Given the description of an element on the screen output the (x, y) to click on. 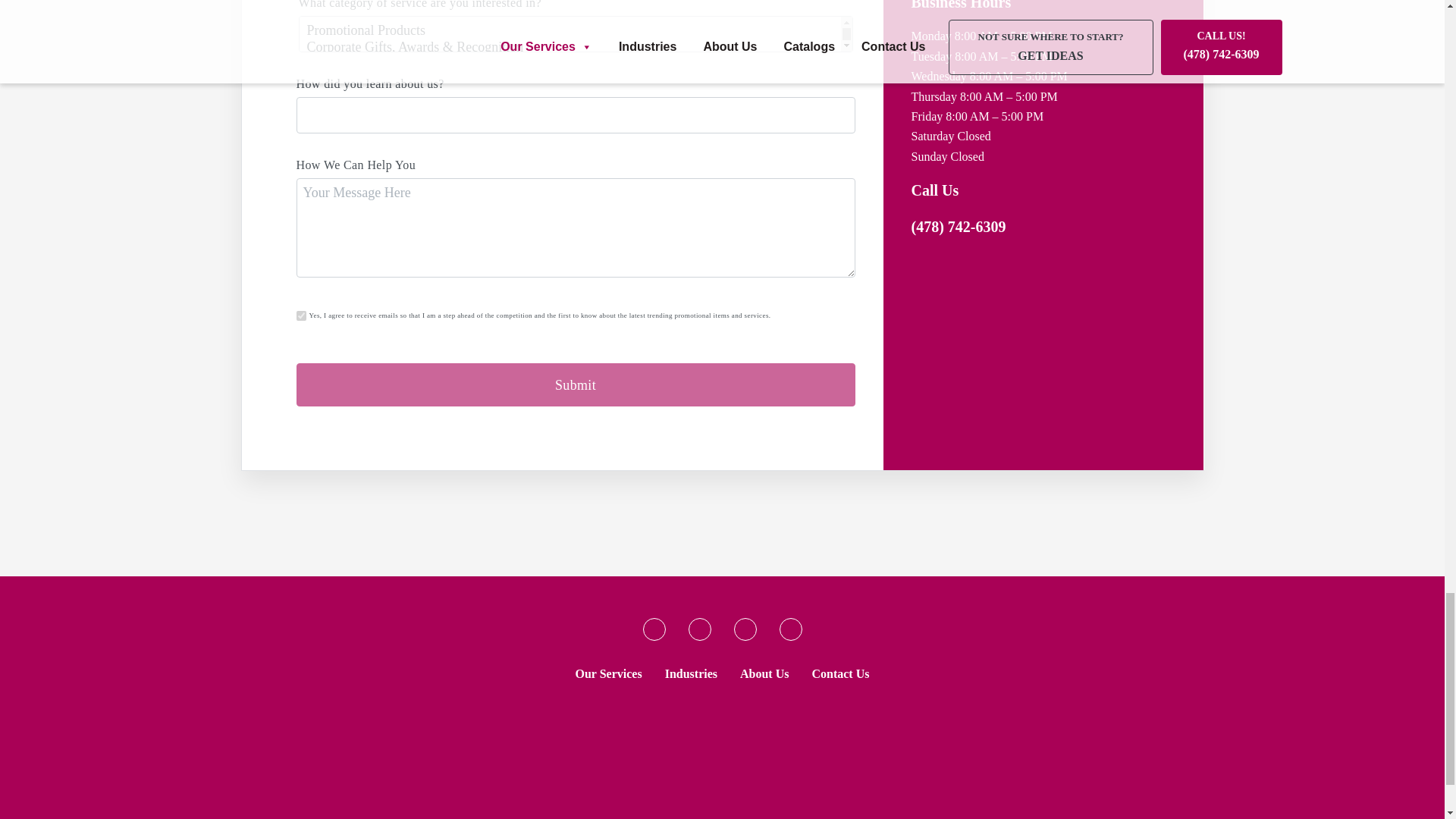
Submit (574, 384)
Submit (574, 384)
Contact Us (839, 673)
About Us (764, 673)
Our Services (608, 673)
Industries (691, 673)
